Given the description of an element on the screen output the (x, y) to click on. 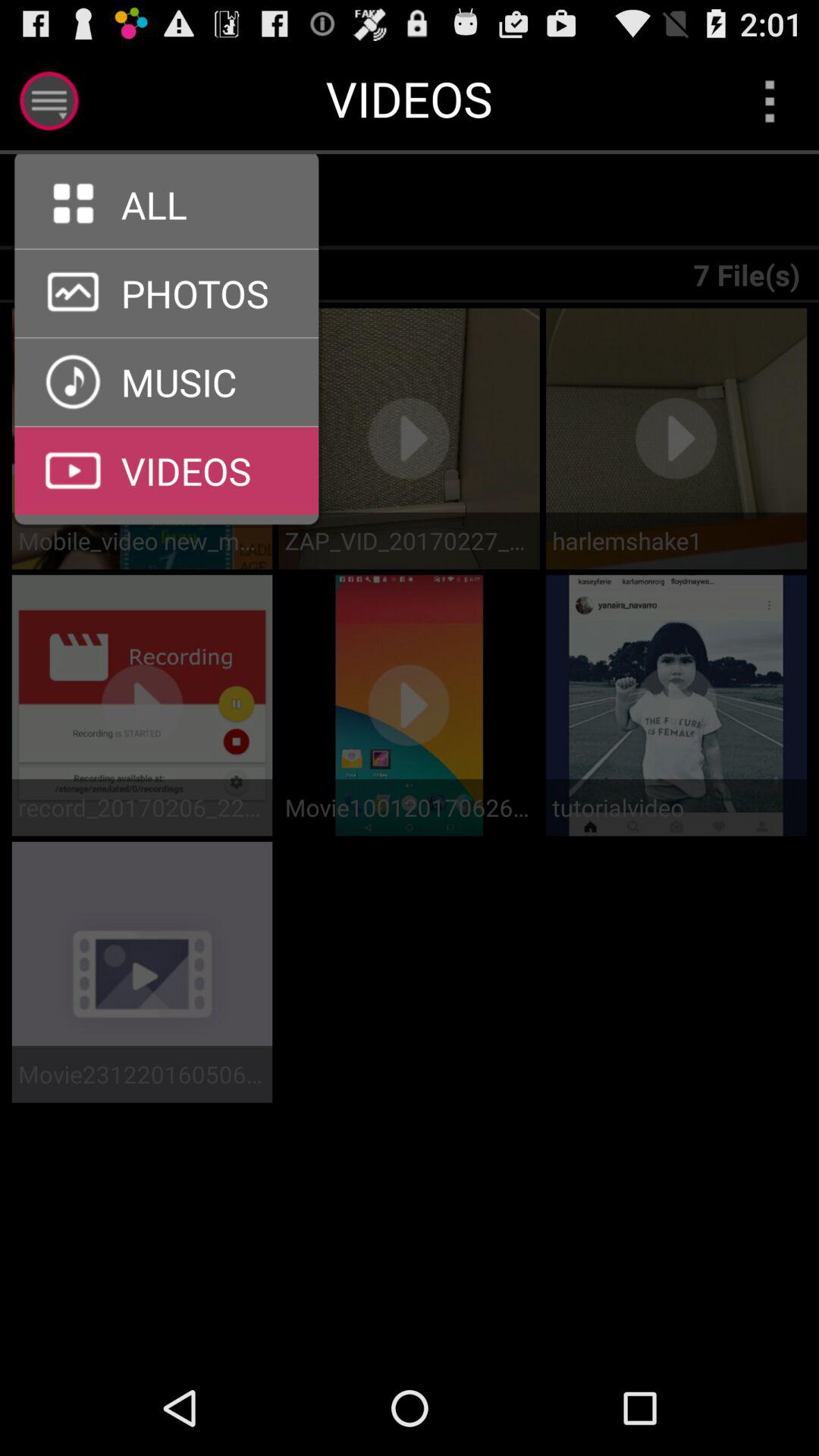
flip until tutorialvideo item (676, 807)
